Given the description of an element on the screen output the (x, y) to click on. 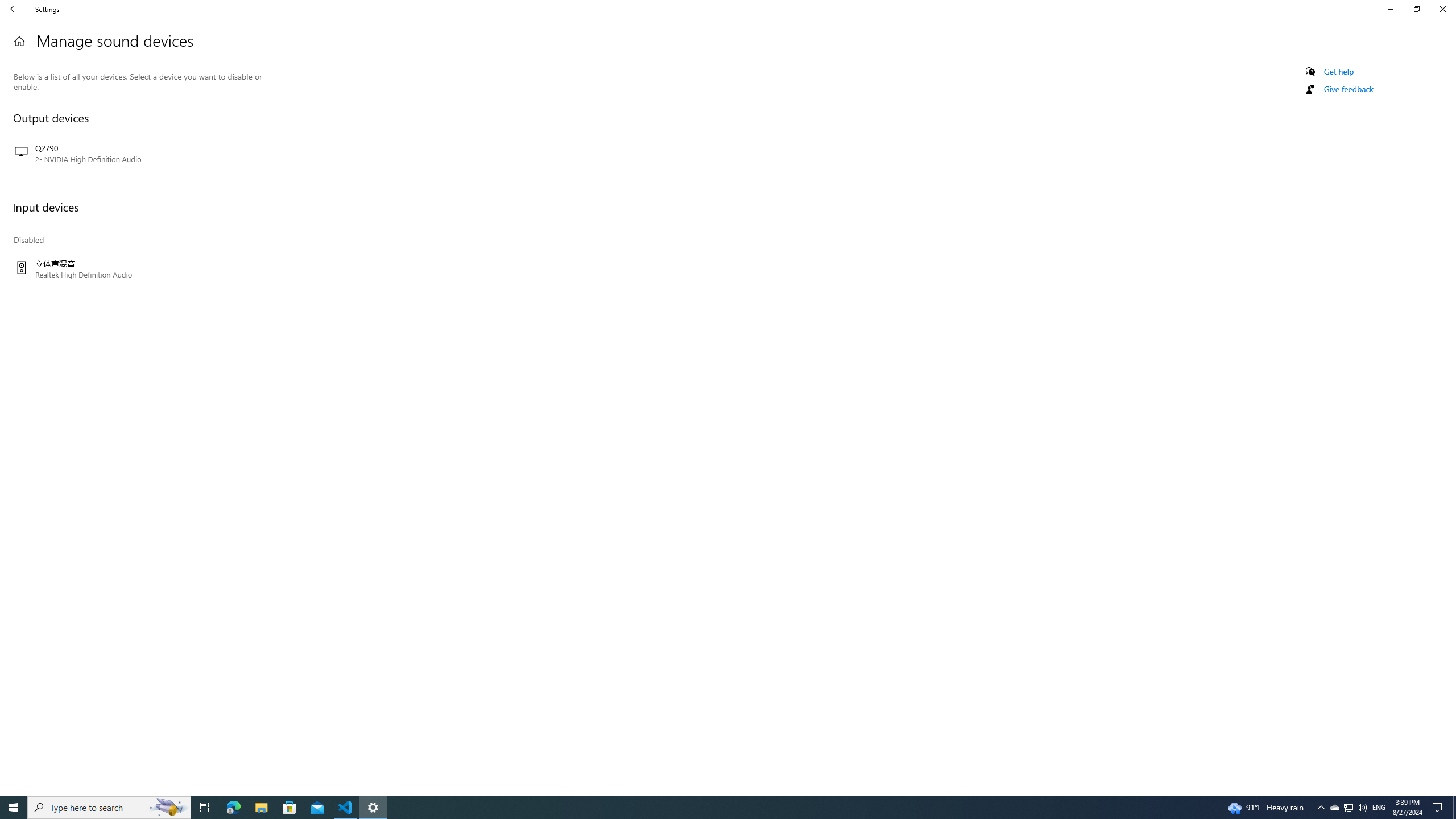
Microsoft Store (289, 807)
Back (13, 9)
File Explorer (261, 807)
Microsoft Edge (233, 807)
Restore Settings (1416, 9)
Get help (1338, 71)
Give feedback (1348, 88)
Tray Input Indicator - English (United States) (1378, 807)
Show desktop (1454, 807)
Task View (204, 807)
Action Center, No new notifications (1439, 807)
Search highlights icon opens search home window (167, 807)
